Given the description of an element on the screen output the (x, y) to click on. 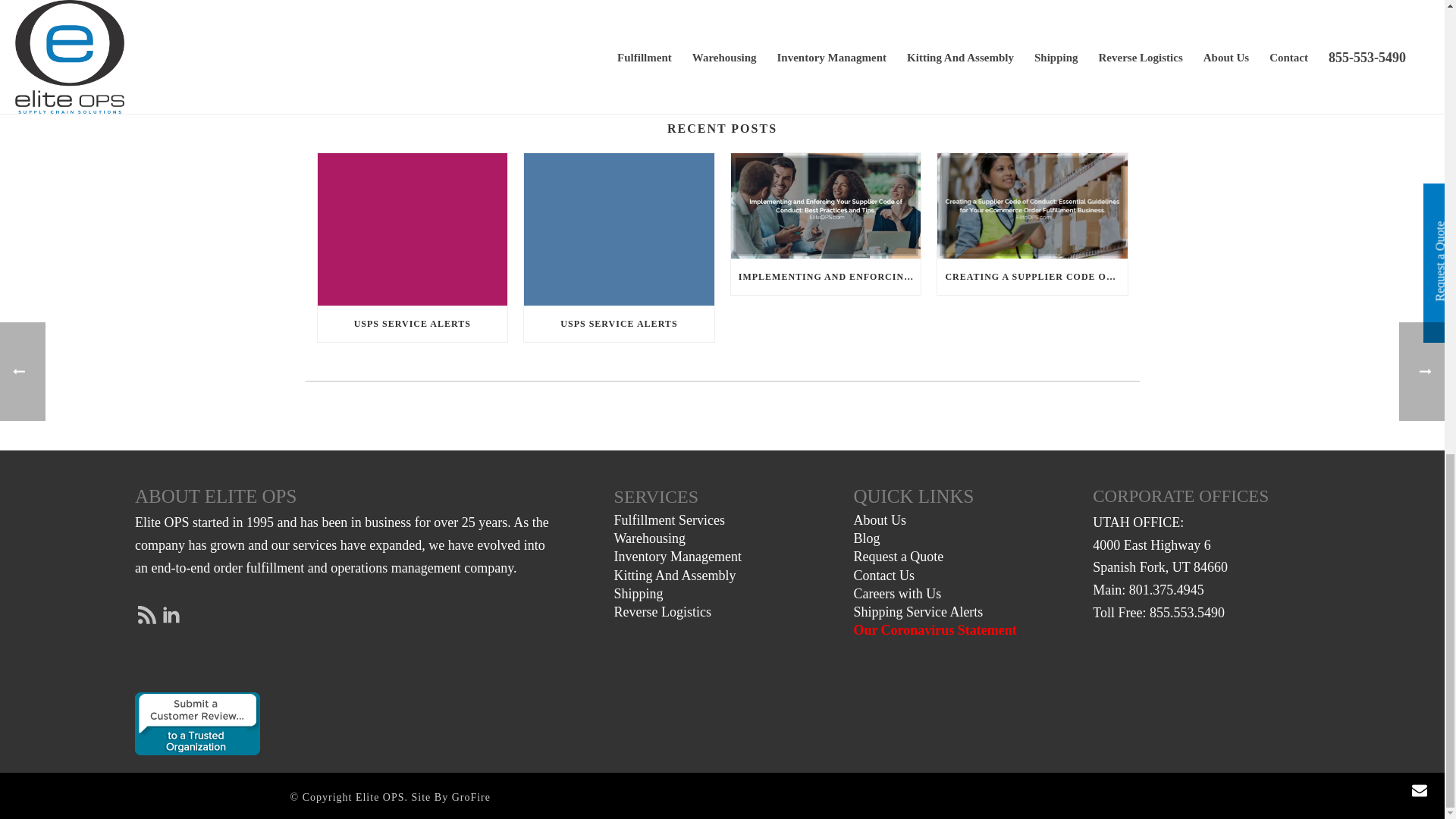
USPS Service Alerts (411, 229)
USPS Service Alerts (619, 229)
Get in touch with me via email (374, 49)
GroFire (470, 797)
Elite Ops BBB Customer Reviews (197, 722)
